Given the description of an element on the screen output the (x, y) to click on. 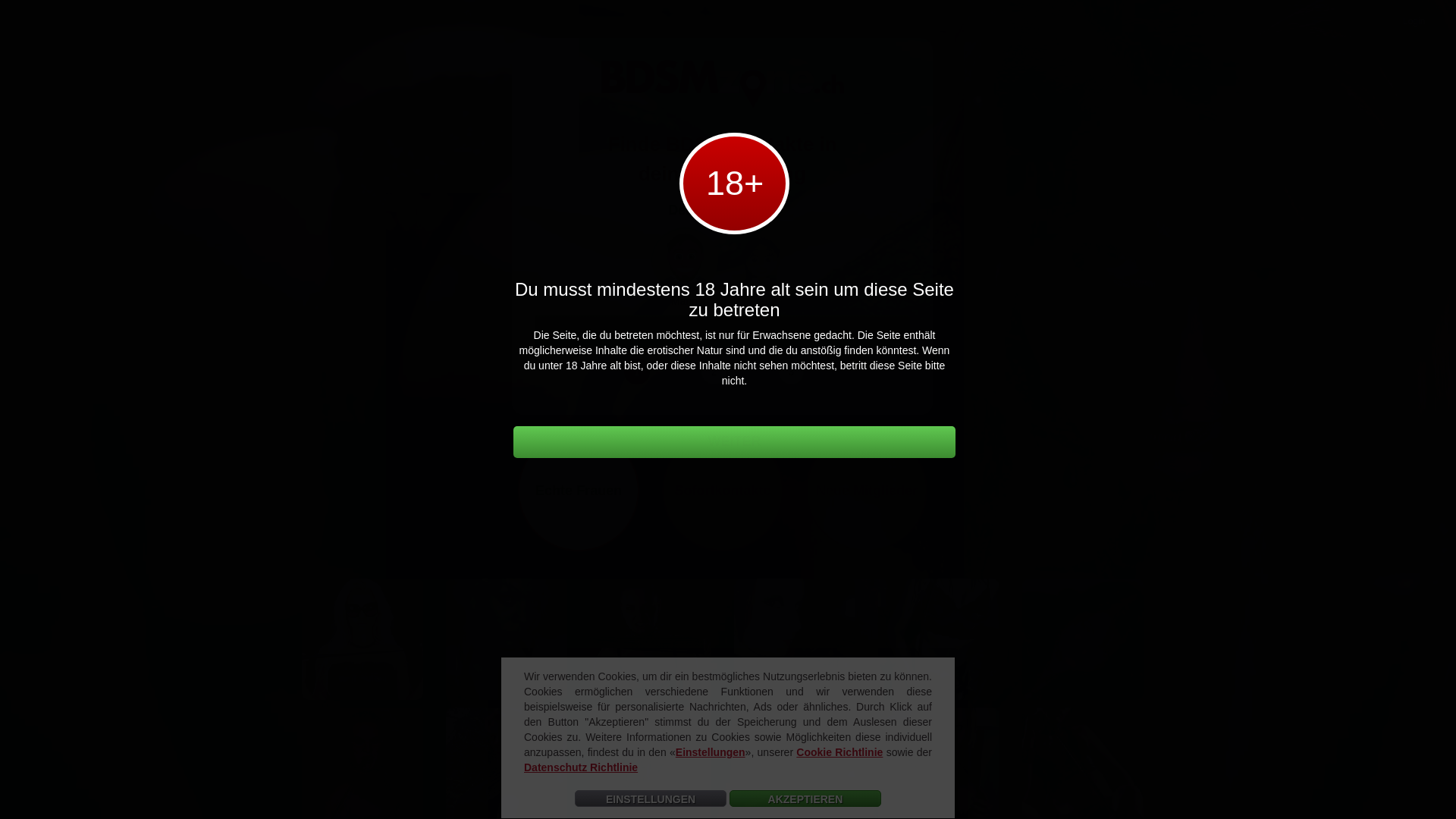
WEITER Element type: text (734, 442)
2 Element type: text (714, 371)
Datenschutz Richtlinie Element type: text (580, 767)
Login Element type: text (1413, 21)
1 Element type: text (636, 371)
3 Element type: text (791, 371)
WEITER Element type: text (722, 330)
Einstellungen Element type: text (710, 752)
Cookie Richtlinie Element type: text (839, 752)
Weiter Element type: text (199, 15)
